Given the description of an element on the screen output the (x, y) to click on. 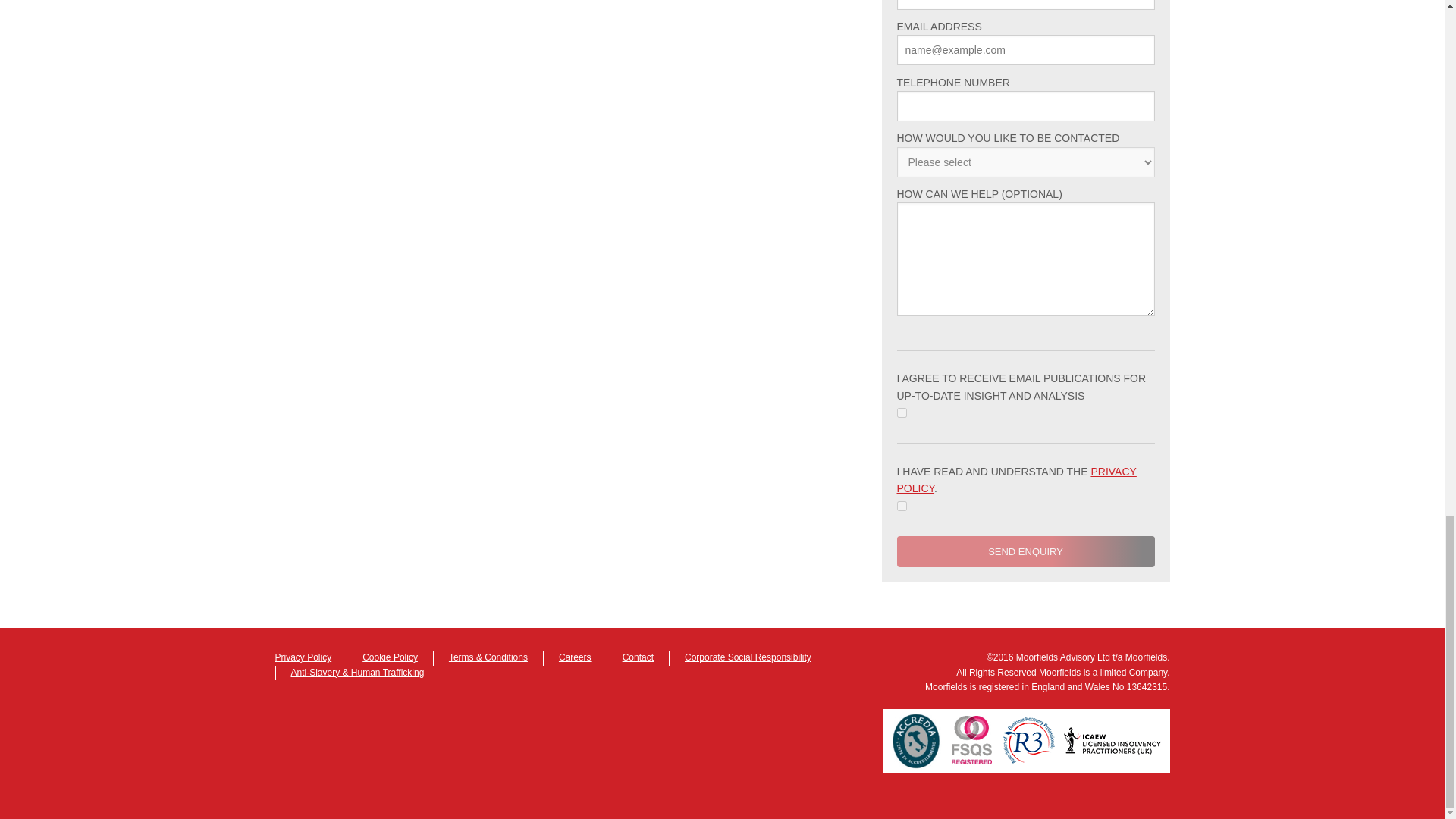
privacy policy (1015, 480)
Send Enquiry (1025, 552)
on (900, 506)
true (900, 412)
Understand the privacy policy (900, 506)
